Given the description of an element on the screen output the (x, y) to click on. 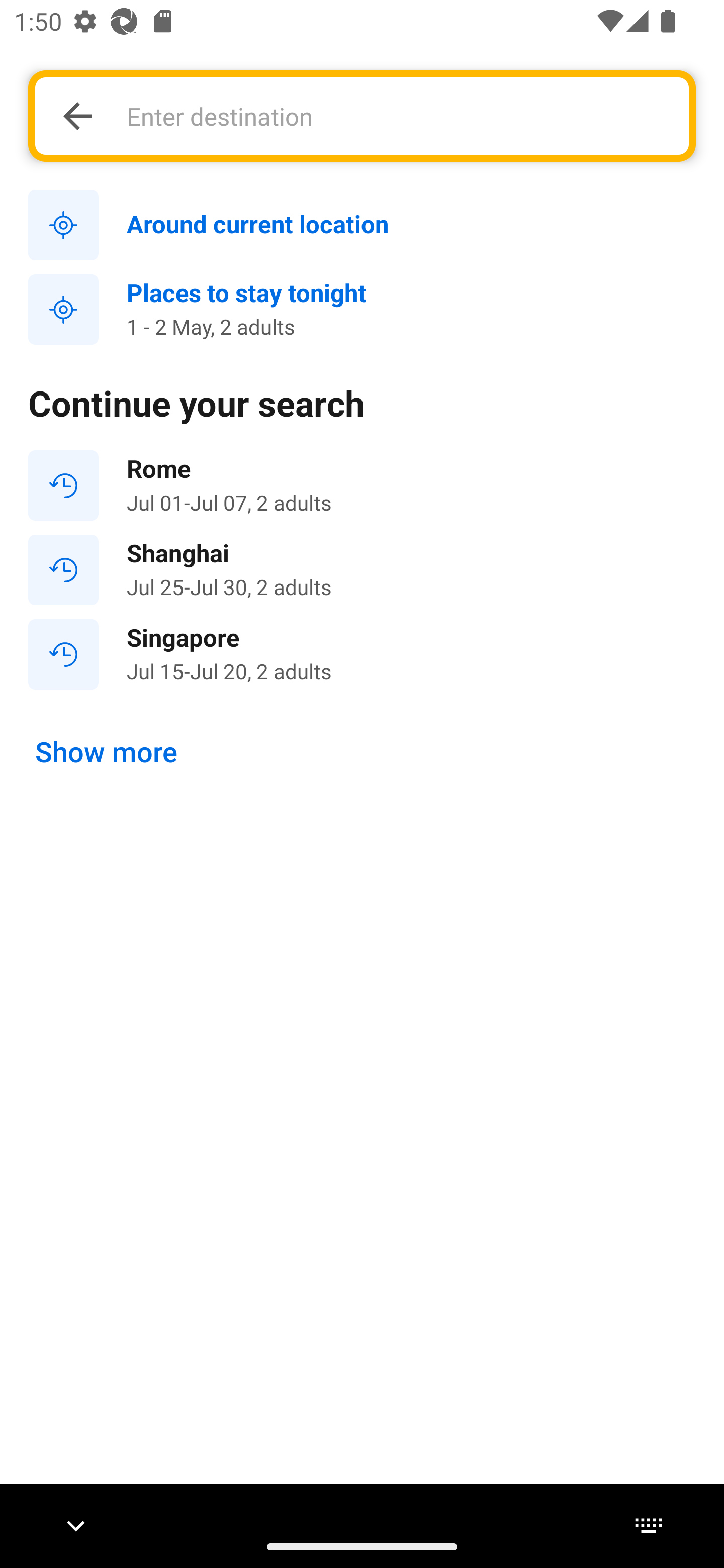
Enter destination (396, 115)
Around current location (362, 225)
Places to stay tonight 1 - 2 May, 2 adults (362, 309)
Rome Jul 01-Jul 07, 2 adults  (362, 485)
Shanghai Jul 25-Jul 30, 2 adults  (362, 569)
Singapore Jul 15-Jul 20, 2 adults  (362, 653)
Show more (106, 752)
